Given the description of an element on the screen output the (x, y) to click on. 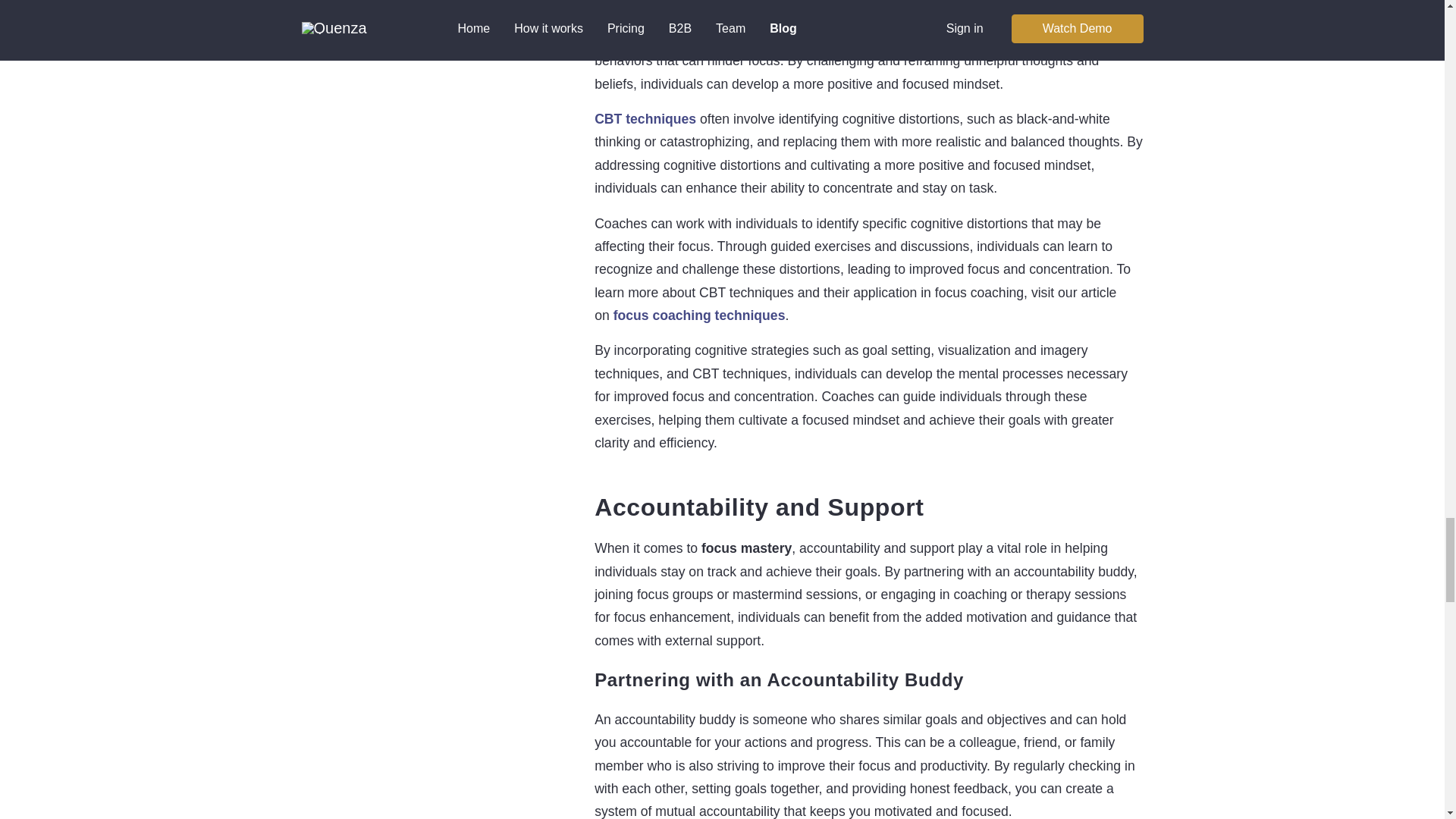
focus coaching techniques (699, 314)
CBT techniques (644, 118)
CBT techniques (644, 118)
